Given the description of an element on the screen output the (x, y) to click on. 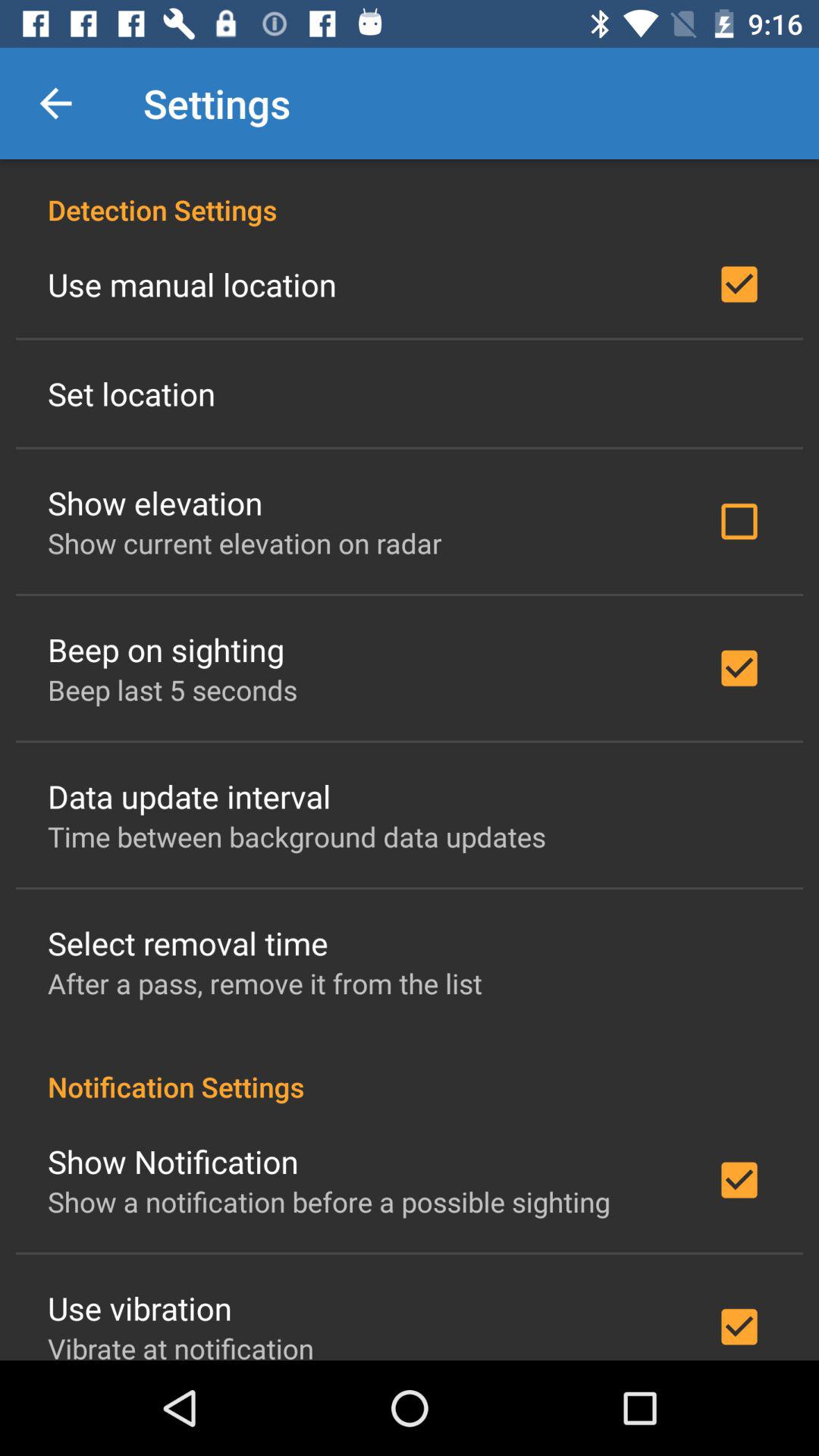
scroll until the after a pass (264, 983)
